Given the description of an element on the screen output the (x, y) to click on. 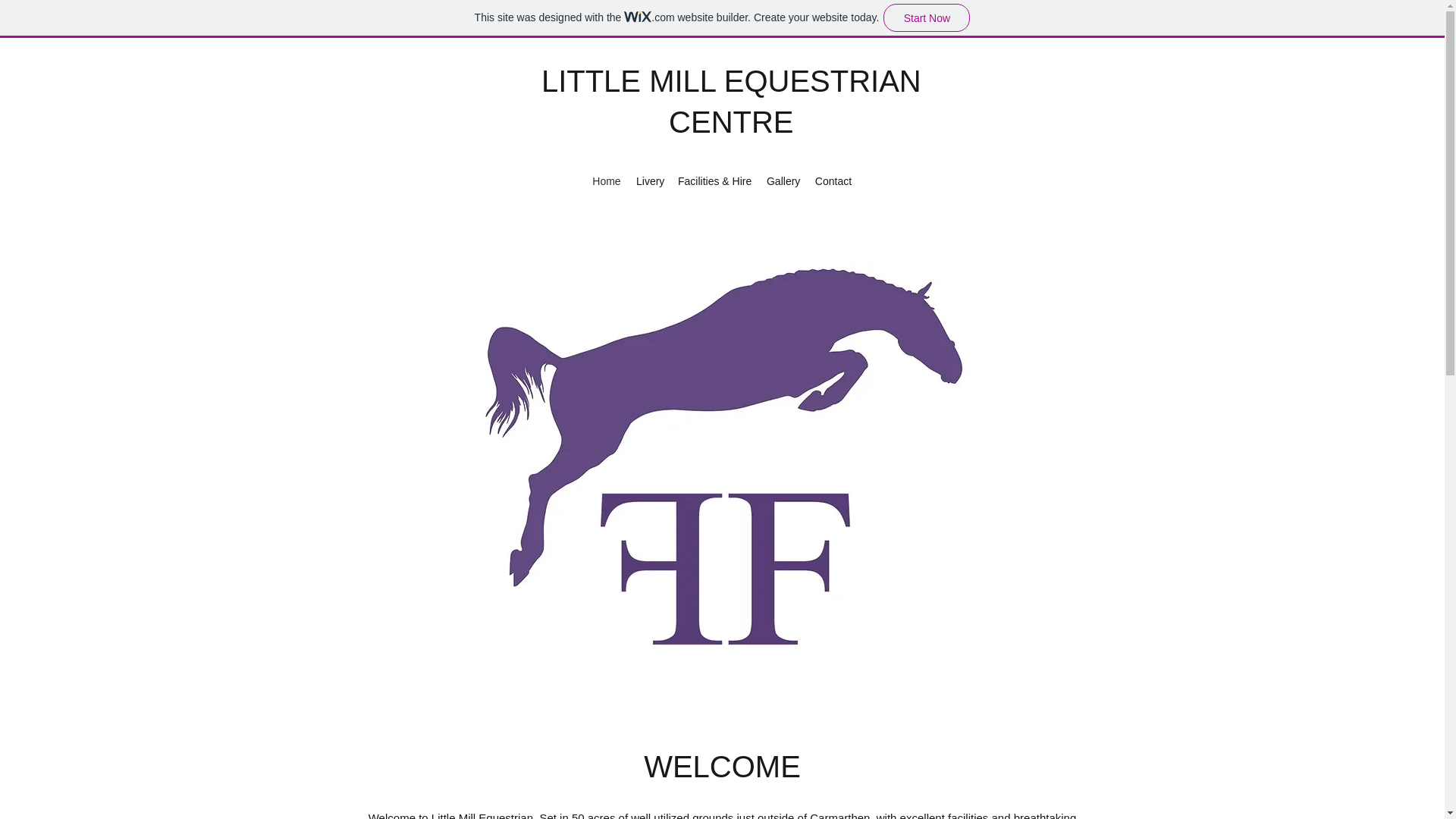
Gallery (782, 180)
Livery (648, 180)
LITTLE MILL EQUESTRIAN CENTRE (731, 101)
Contact (833, 180)
Home (606, 180)
